Given the description of an element on the screen output the (x, y) to click on. 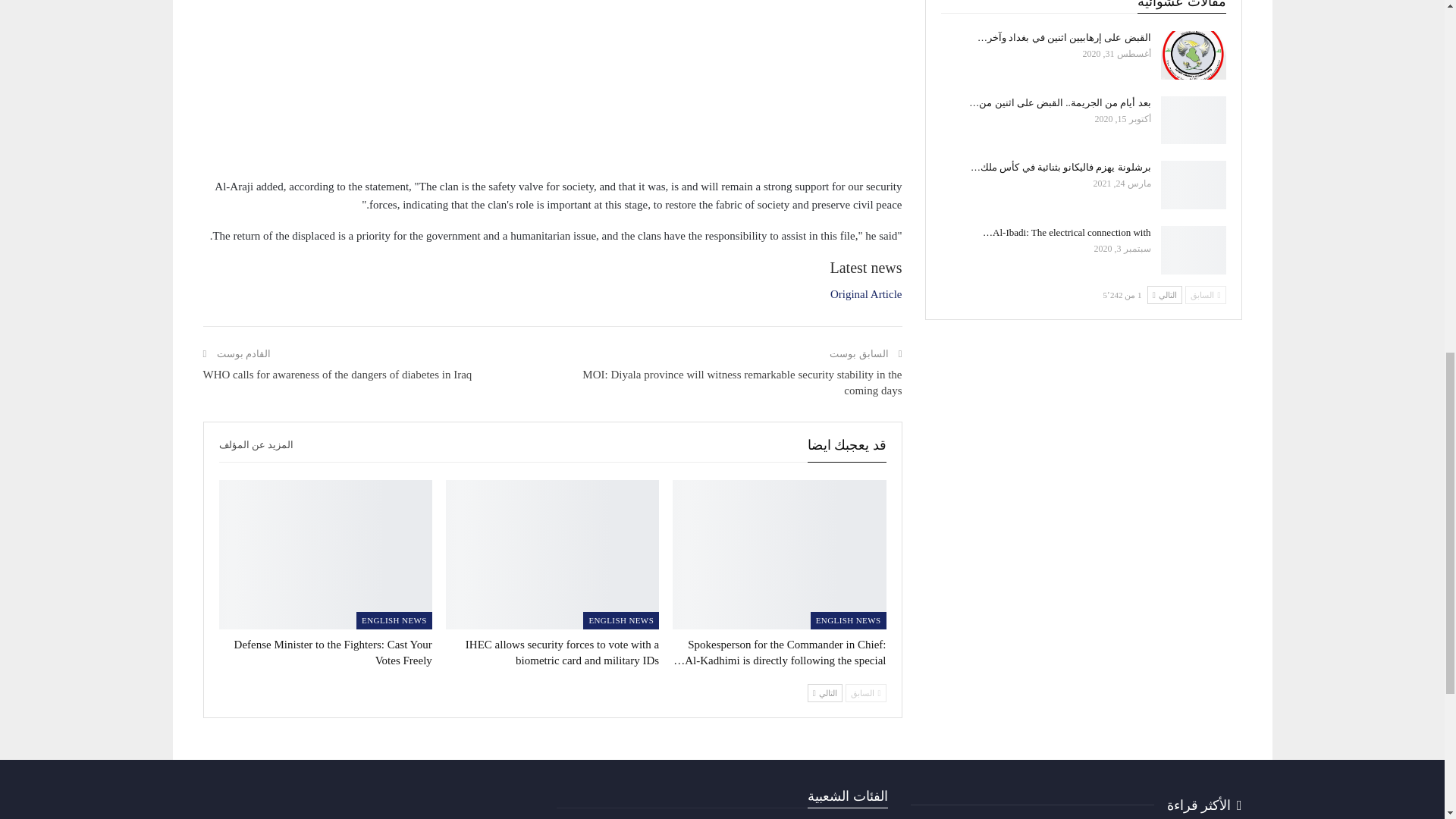
Original Article (865, 294)
Defense Minister to the Fighters:  Cast Your Votes Freely (325, 554)
Advertisement (552, 84)
Defense Minister to the Fighters:  Cast Your Votes Freely (333, 652)
WHO calls for awareness of the dangers of diabetes in Iraq (337, 374)
